Given the description of an element on the screen output the (x, y) to click on. 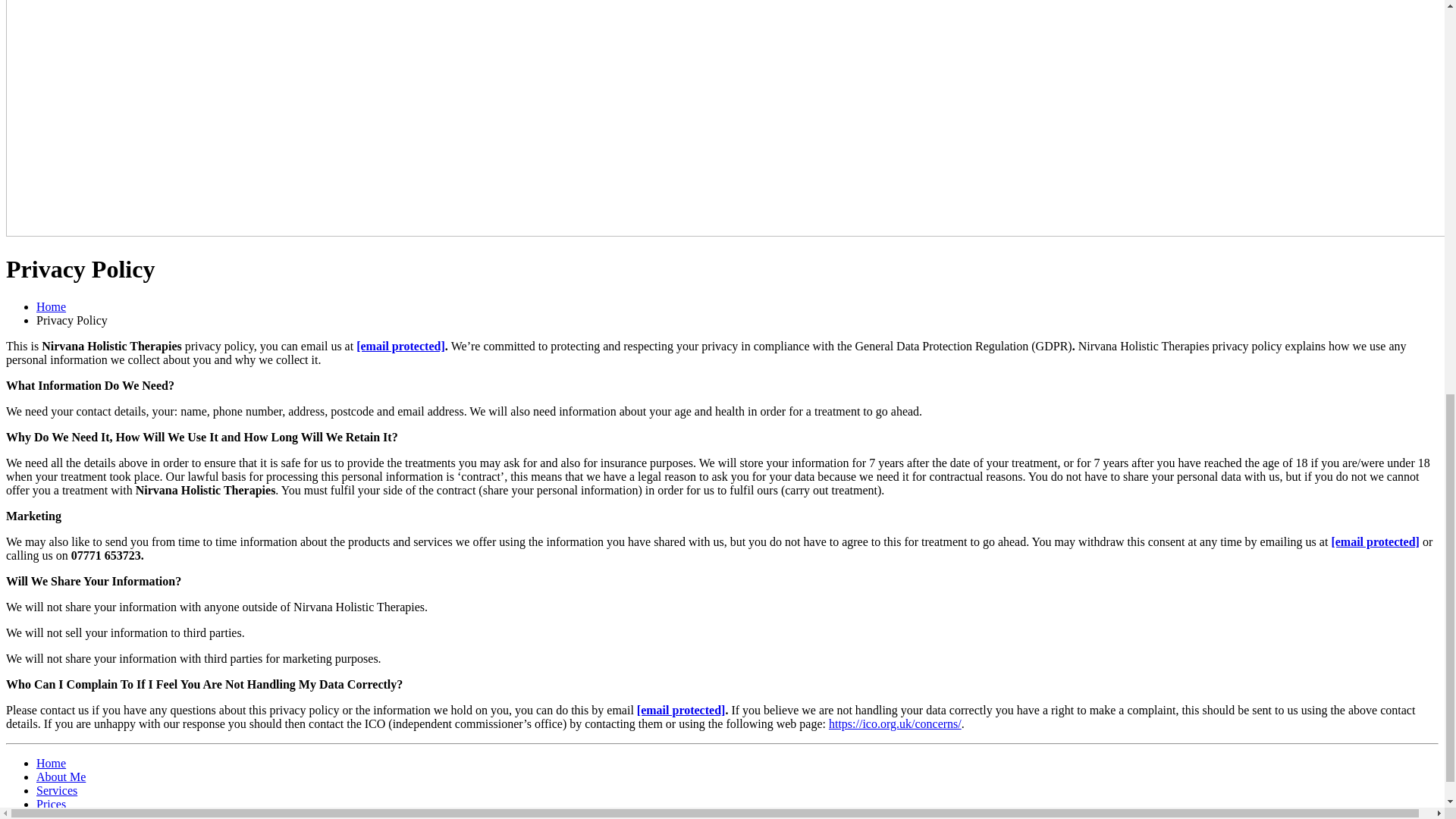
Home (50, 762)
About Me (60, 776)
Prices (50, 803)
Services (56, 789)
Home (50, 306)
